Given the description of an element on the screen output the (x, y) to click on. 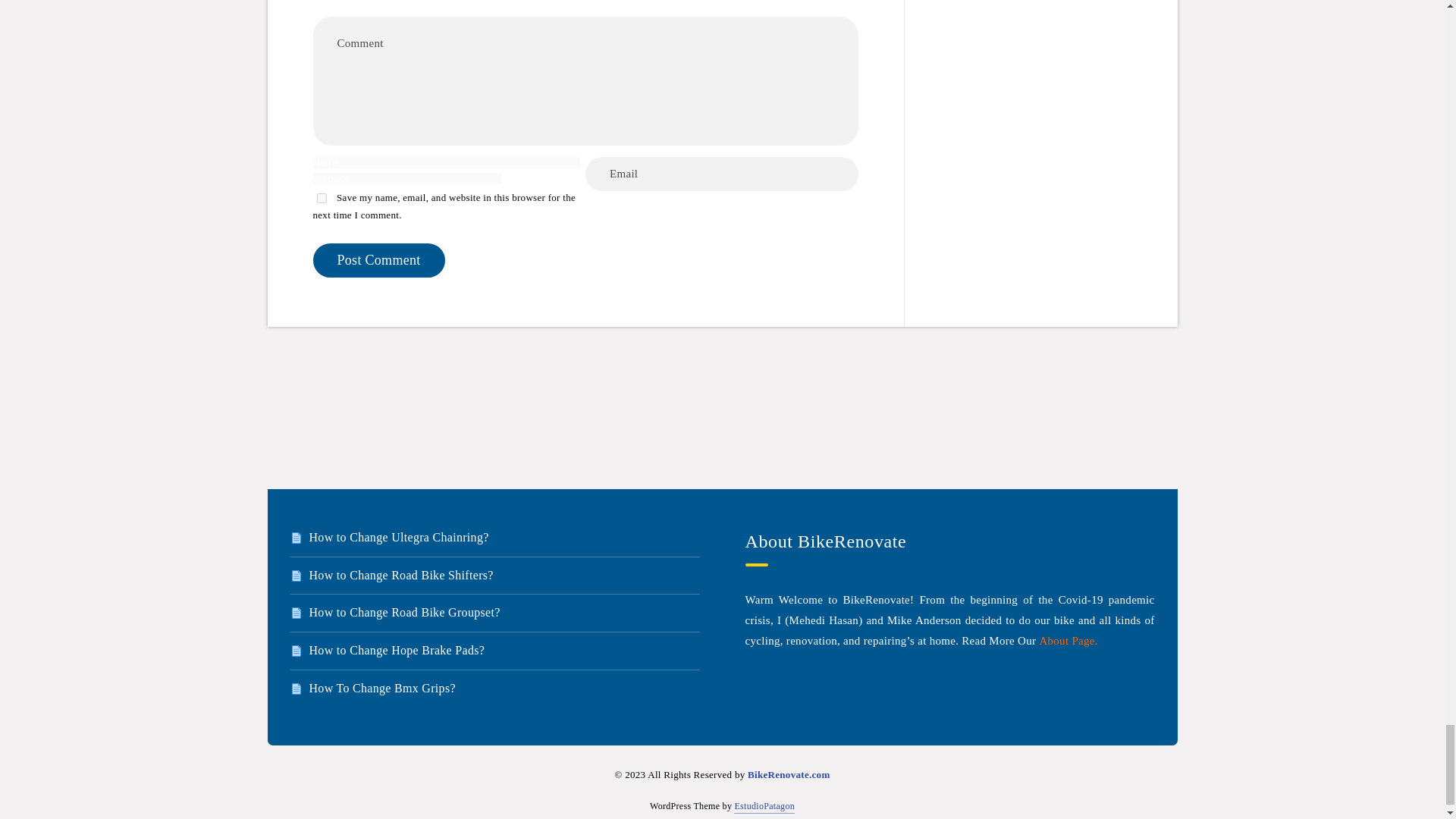
Powered with Reco (763, 806)
Post Comment (378, 260)
yes (321, 198)
Post Comment (378, 260)
